Given the description of an element on the screen output the (x, y) to click on. 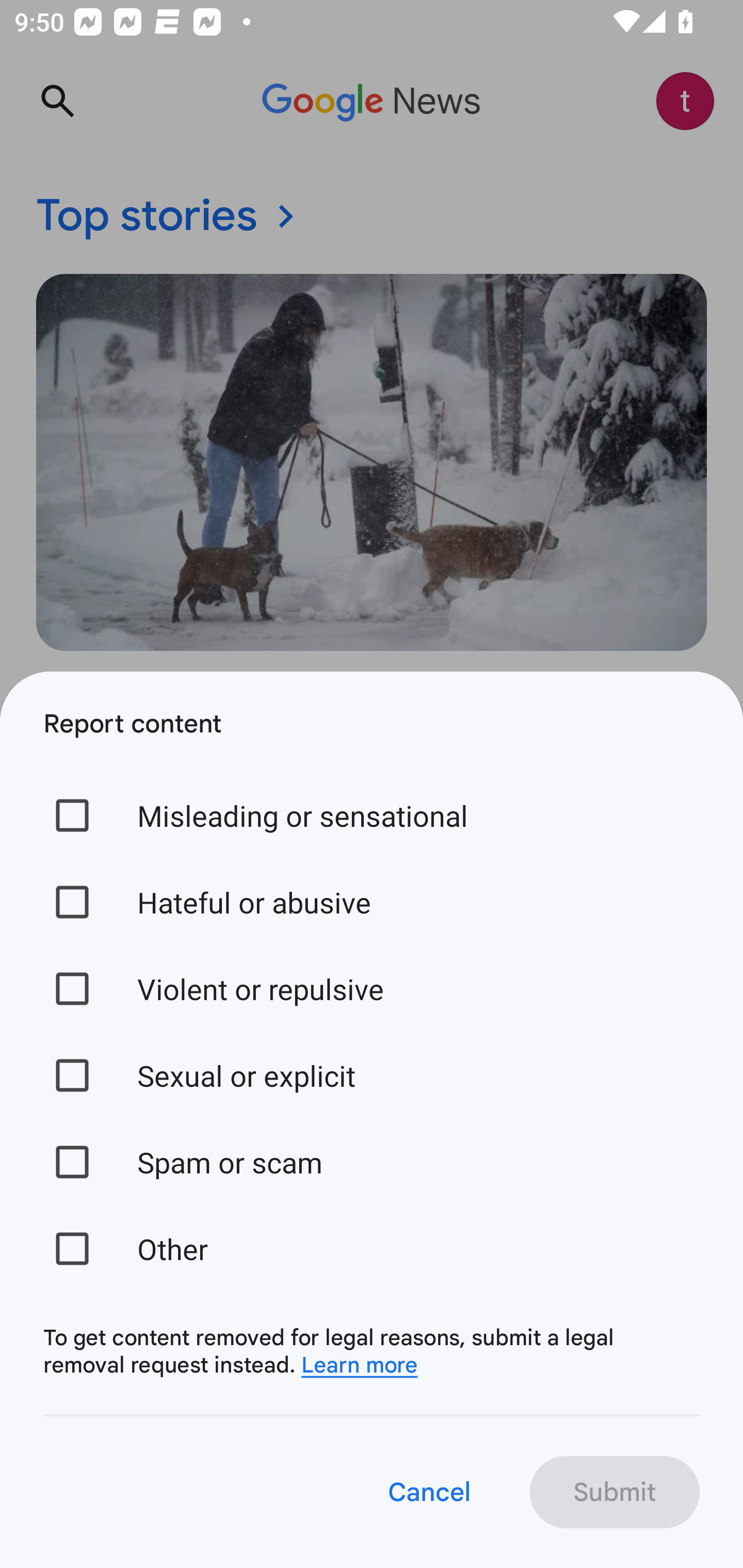
Misleading or sensational (371, 815)
Hateful or abusive (371, 902)
Violent or repulsive (371, 988)
Sexual or explicit (371, 1074)
Spam or scam (371, 1161)
Other (371, 1248)
Cancel (428, 1491)
Submit (614, 1491)
